Given the description of an element on the screen output the (x, y) to click on. 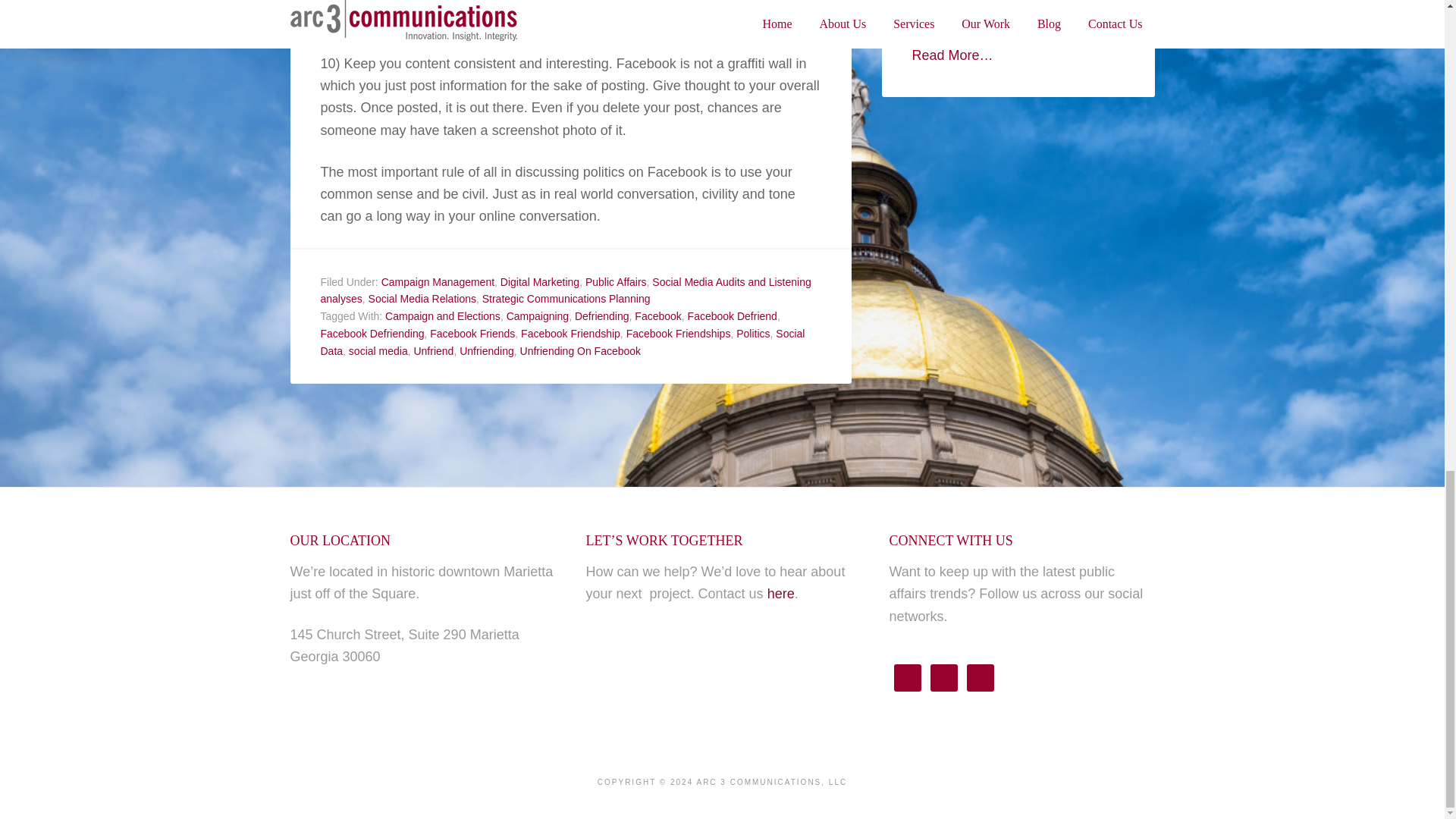
Facebook Defriend (732, 316)
Campaign Management (438, 282)
Defriending (601, 316)
Strategic Communications Planning (565, 298)
Digital Marketing (539, 282)
Facebook Friendships (678, 333)
Social Media Relations (422, 298)
Facebook Friends (472, 333)
Campaign and Elections (442, 316)
Facebook (657, 316)
Campaigning (537, 316)
Public Affairs (615, 282)
Facebook Friendship (570, 333)
Politics (753, 333)
Social Media Audits and Listening analyses (565, 290)
